Given the description of an element on the screen output the (x, y) to click on. 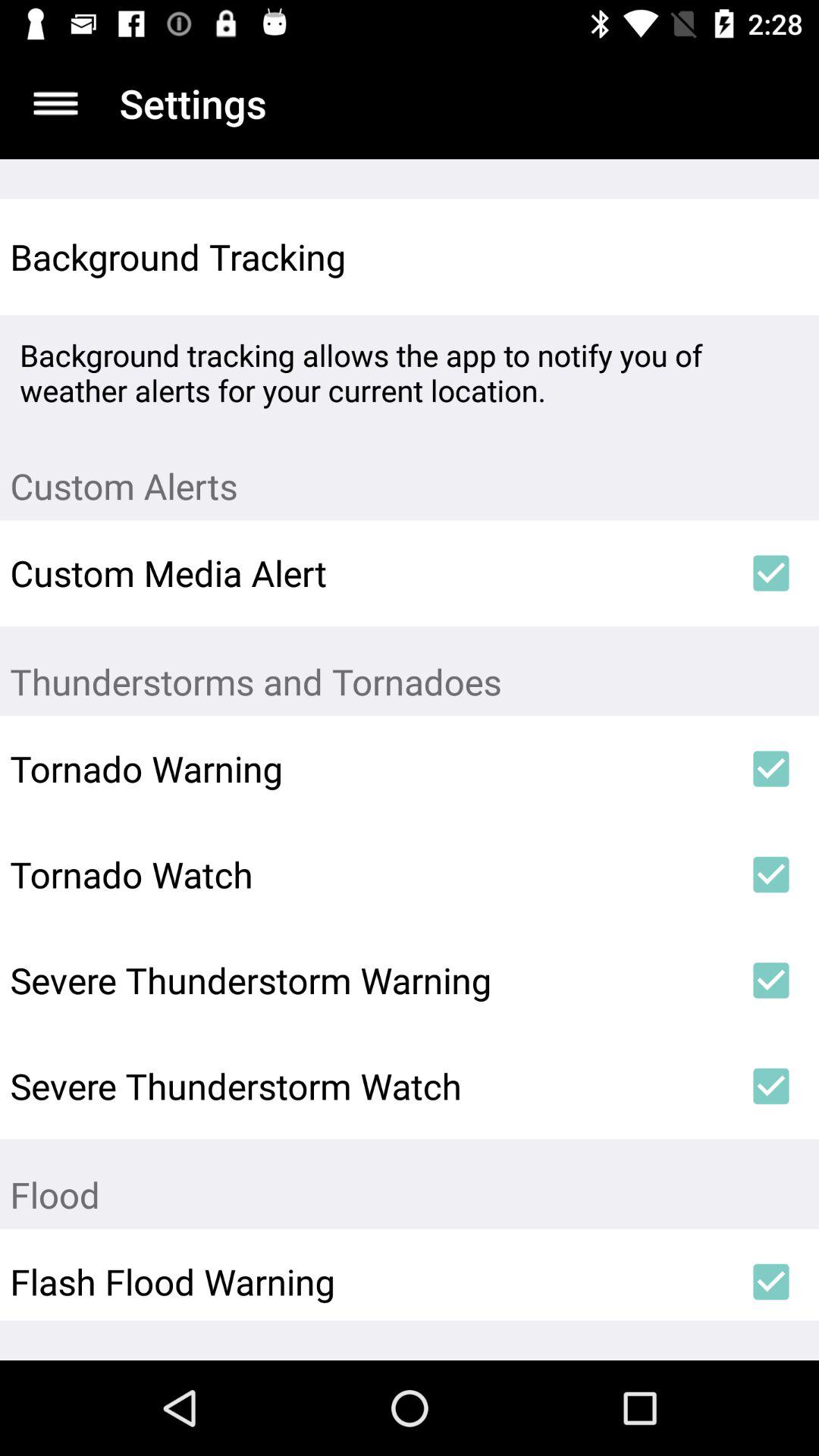
tap the item to the right of background tracking (771, 256)
